Given the description of an element on the screen output the (x, y) to click on. 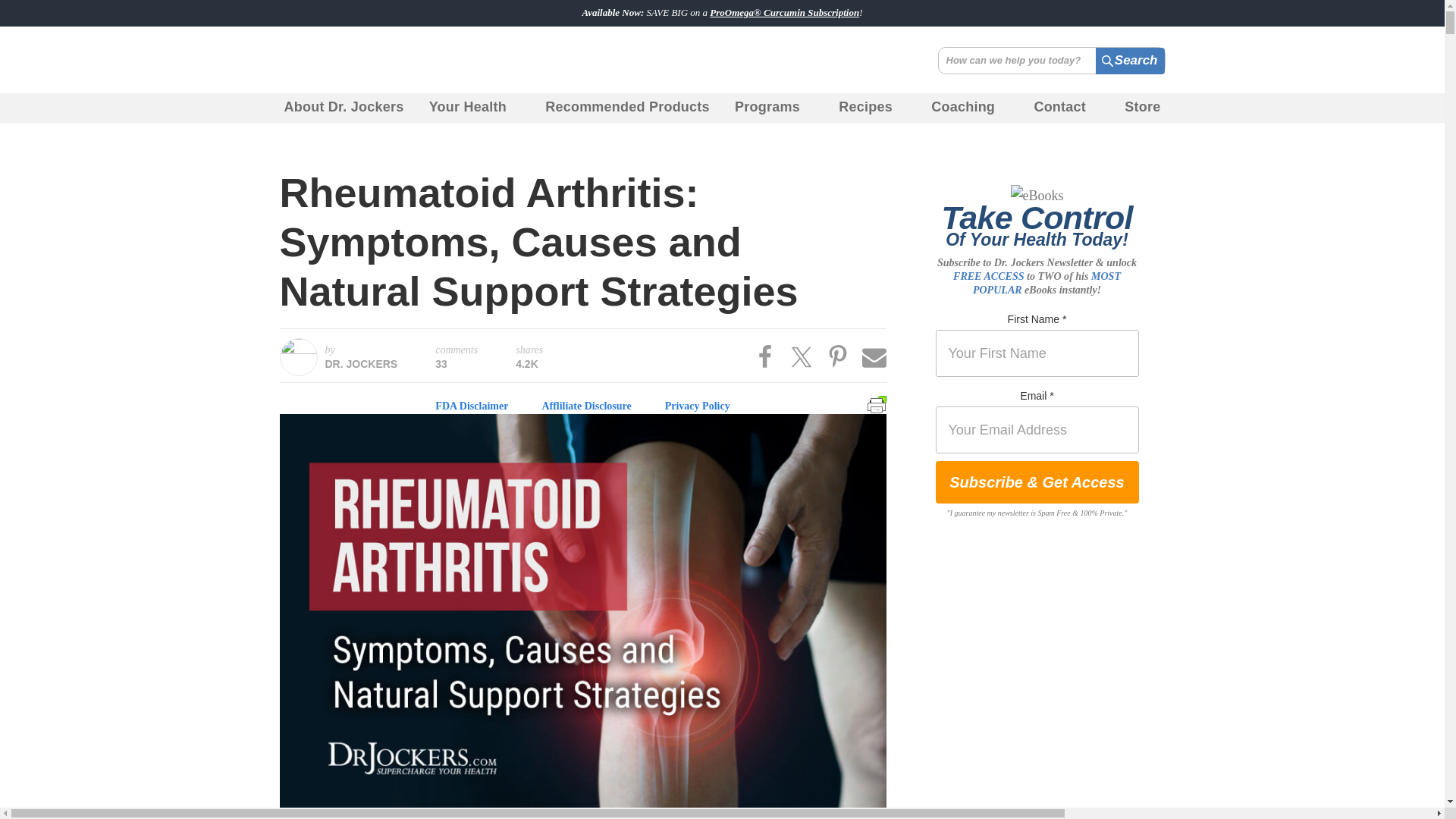
Recipes (872, 107)
Share on Facebook (764, 356)
Share on Twitter (800, 356)
How can we help you today? (1050, 60)
Your Health (474, 107)
Search (1128, 60)
DR. JOCKERS (360, 364)
About Dr. Jockers (343, 107)
Contact (1066, 107)
Coaching (969, 107)
Store (1141, 107)
Share via Email (873, 356)
Programs (774, 107)
Recommended Products (627, 107)
Share on Pinterest (836, 356)
